Given the description of an element on the screen output the (x, y) to click on. 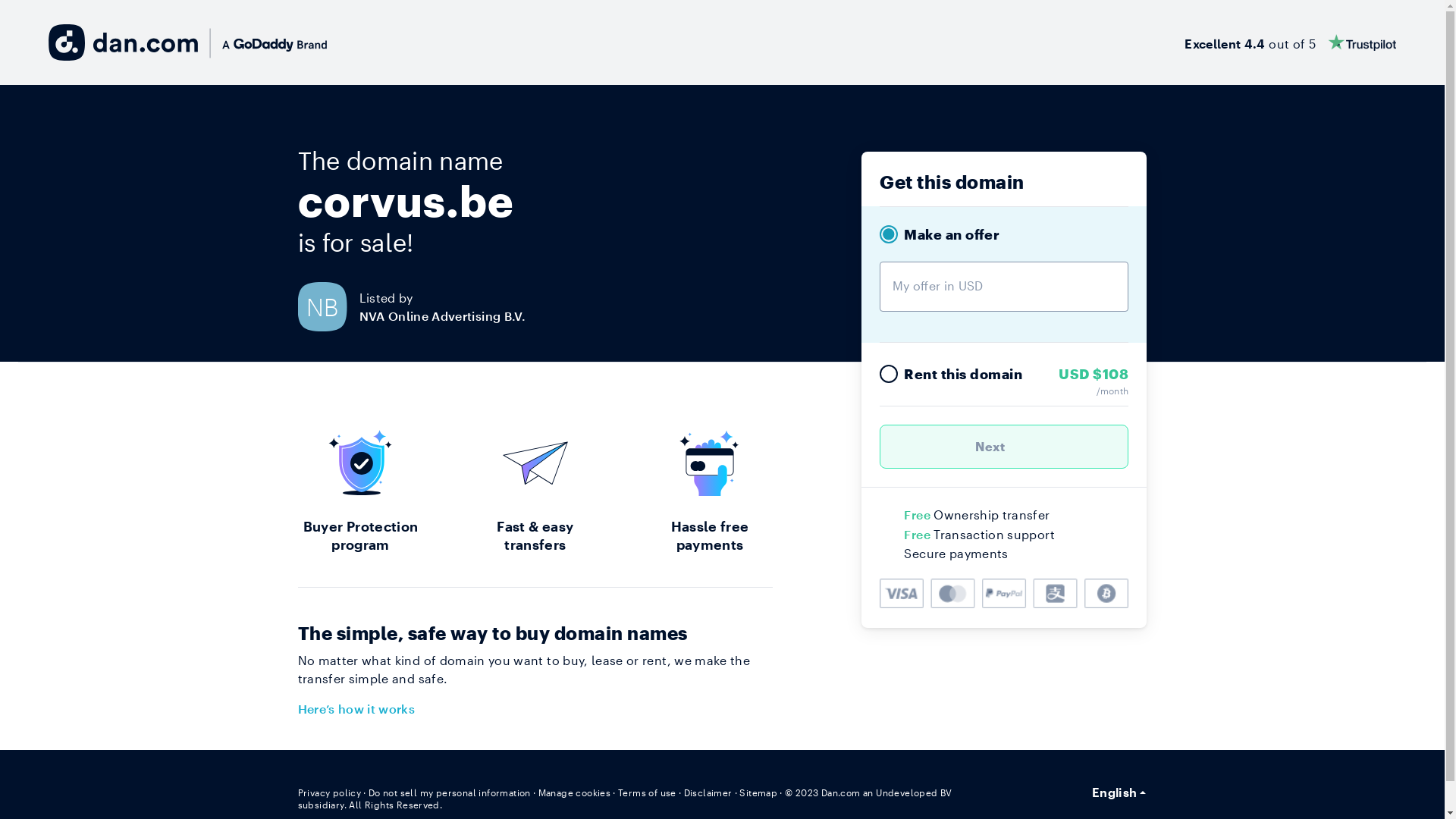
Next
) Element type: text (1003, 446)
Disclaimer Element type: text (708, 792)
Sitemap Element type: text (758, 792)
Excellent 4.4 out of 5 Element type: text (1290, 42)
Do not sell my personal information Element type: text (449, 792)
Manage cookies Element type: text (574, 792)
English Element type: text (1119, 792)
Privacy policy Element type: text (328, 792)
Terms of use Element type: text (647, 792)
